Given the description of an element on the screen output the (x, y) to click on. 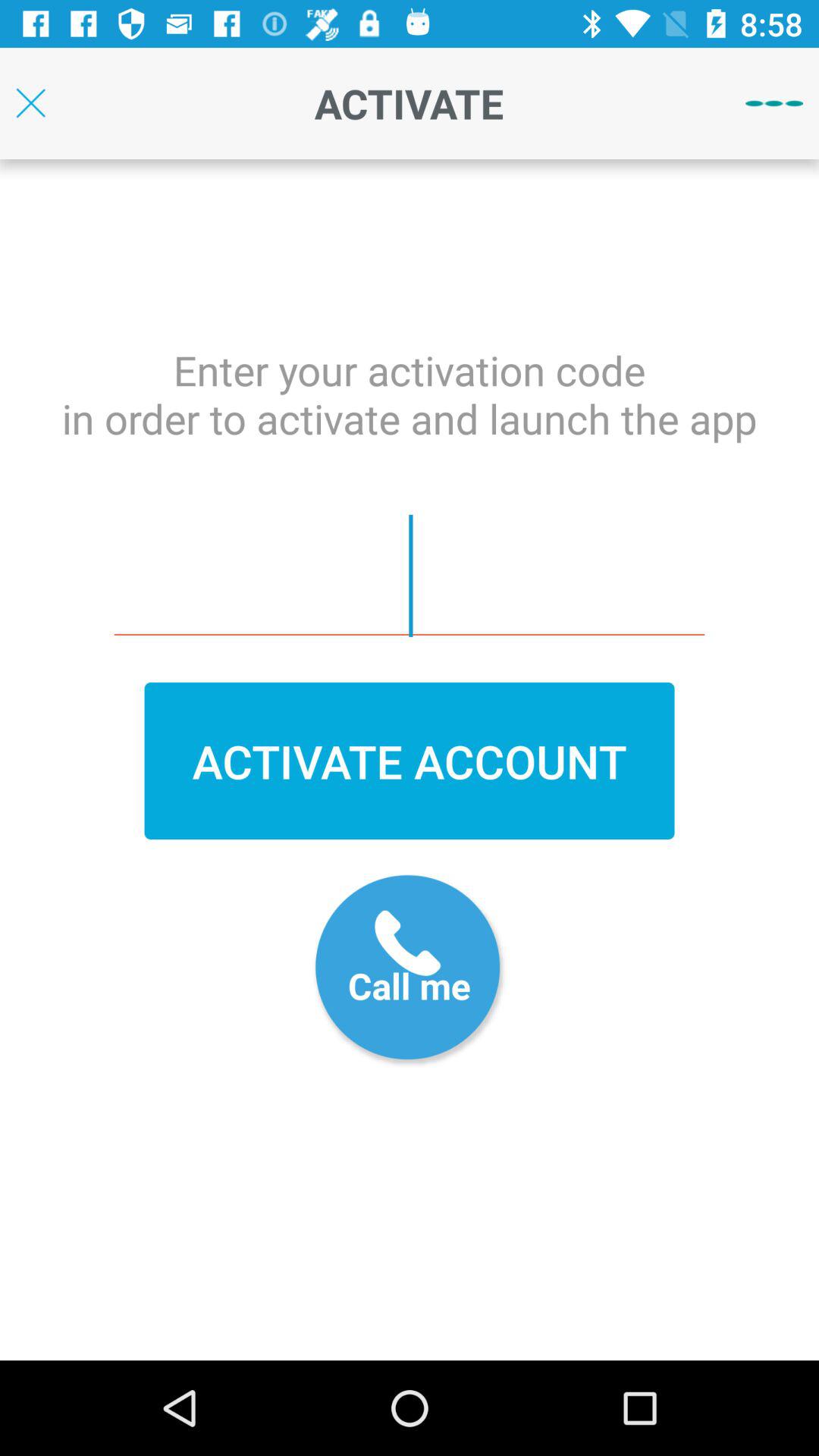
enter text (409, 575)
